Given the description of an element on the screen output the (x, y) to click on. 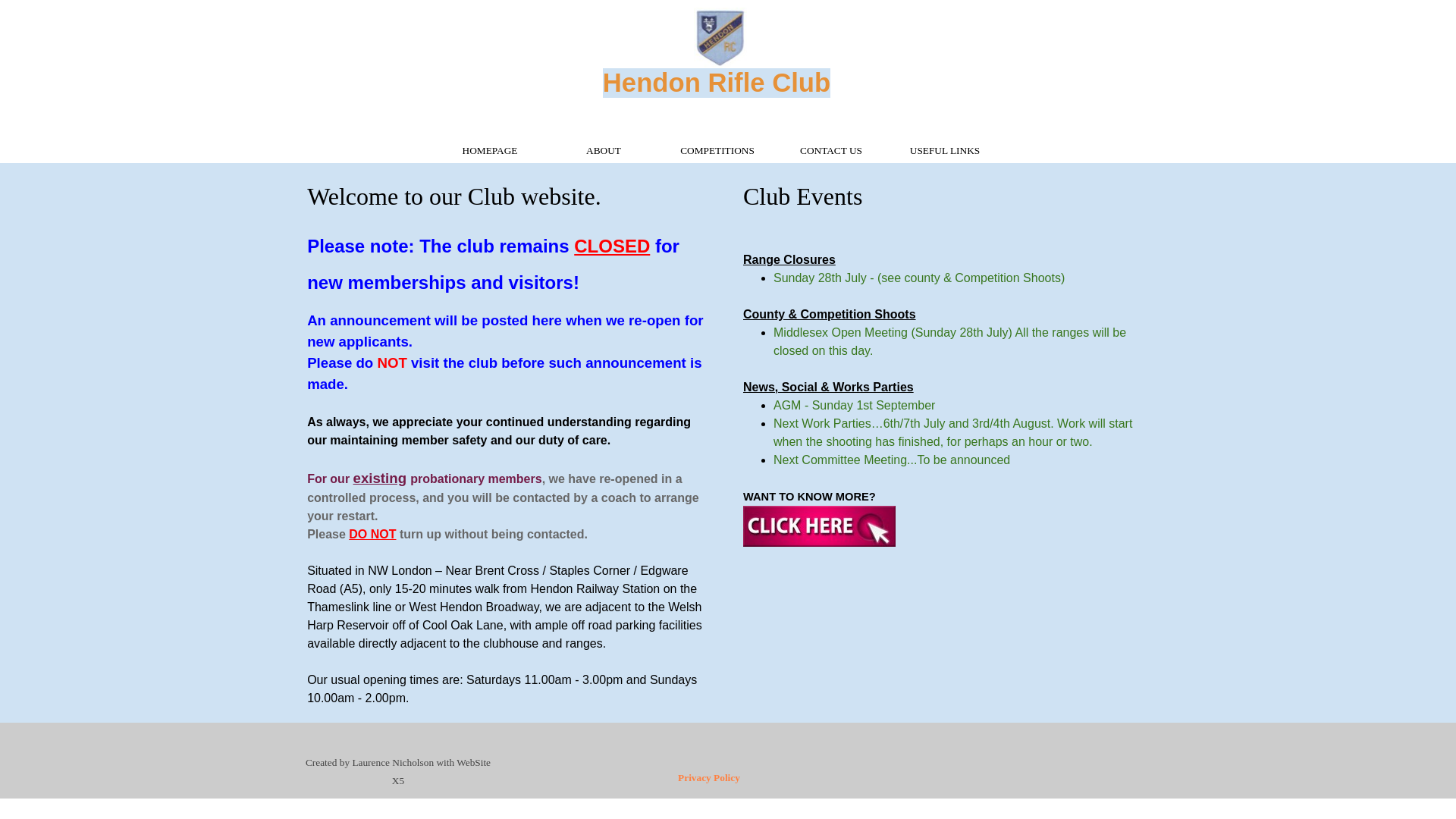
Privacy Policy (708, 777)
HOMEPAGE (488, 150)
Hendon Rifle Club (715, 82)
CONTACT US (831, 150)
USEFUL LINKS (944, 150)
